Given the description of an element on the screen output the (x, y) to click on. 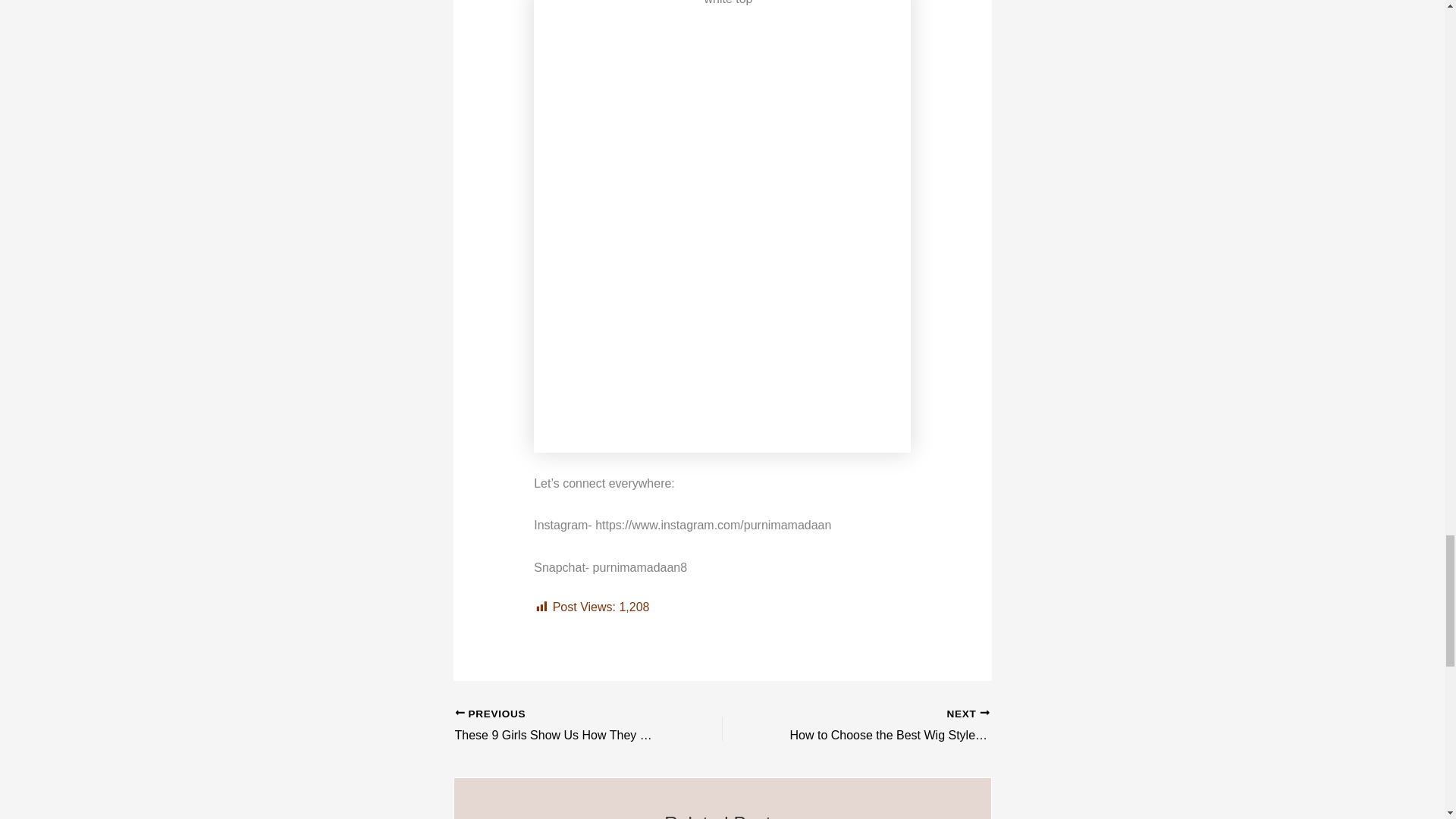
These 9 Girls Show Us How They Love To Wear White Tops (561, 726)
How to Choose the Best Wig Style? - Quick Guide (882, 726)
